Given the description of an element on the screen output the (x, y) to click on. 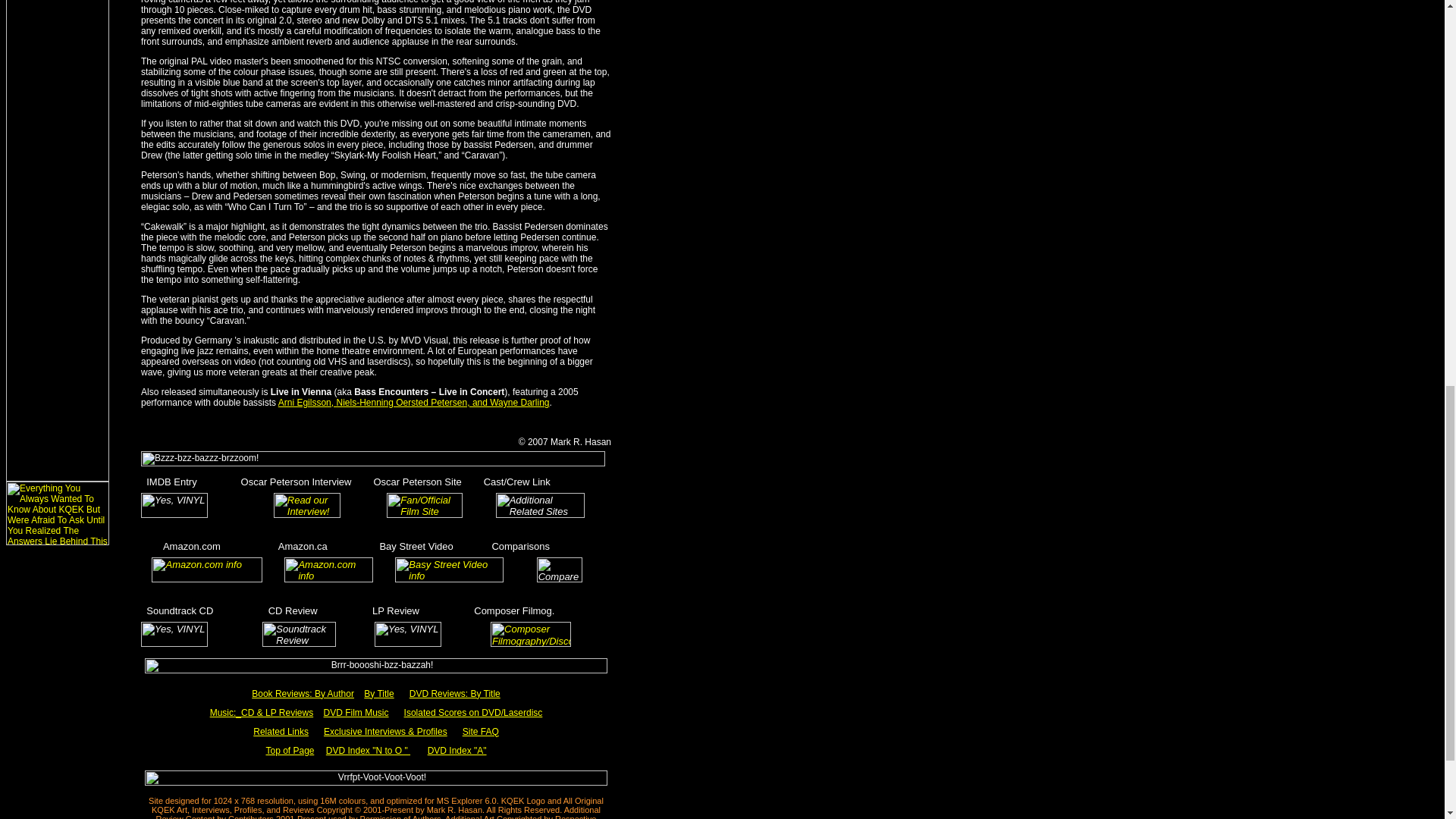
By Title (378, 693)
DVD Index "A" (457, 749)
Book Reviews: By Author (302, 693)
Site FAQ (481, 731)
DVD Index "N to O " (368, 749)
Related Links (280, 731)
Top of Page (289, 749)
DVD Film Music (355, 711)
DVD Reviews: By Title (454, 693)
